Given the description of an element on the screen output the (x, y) to click on. 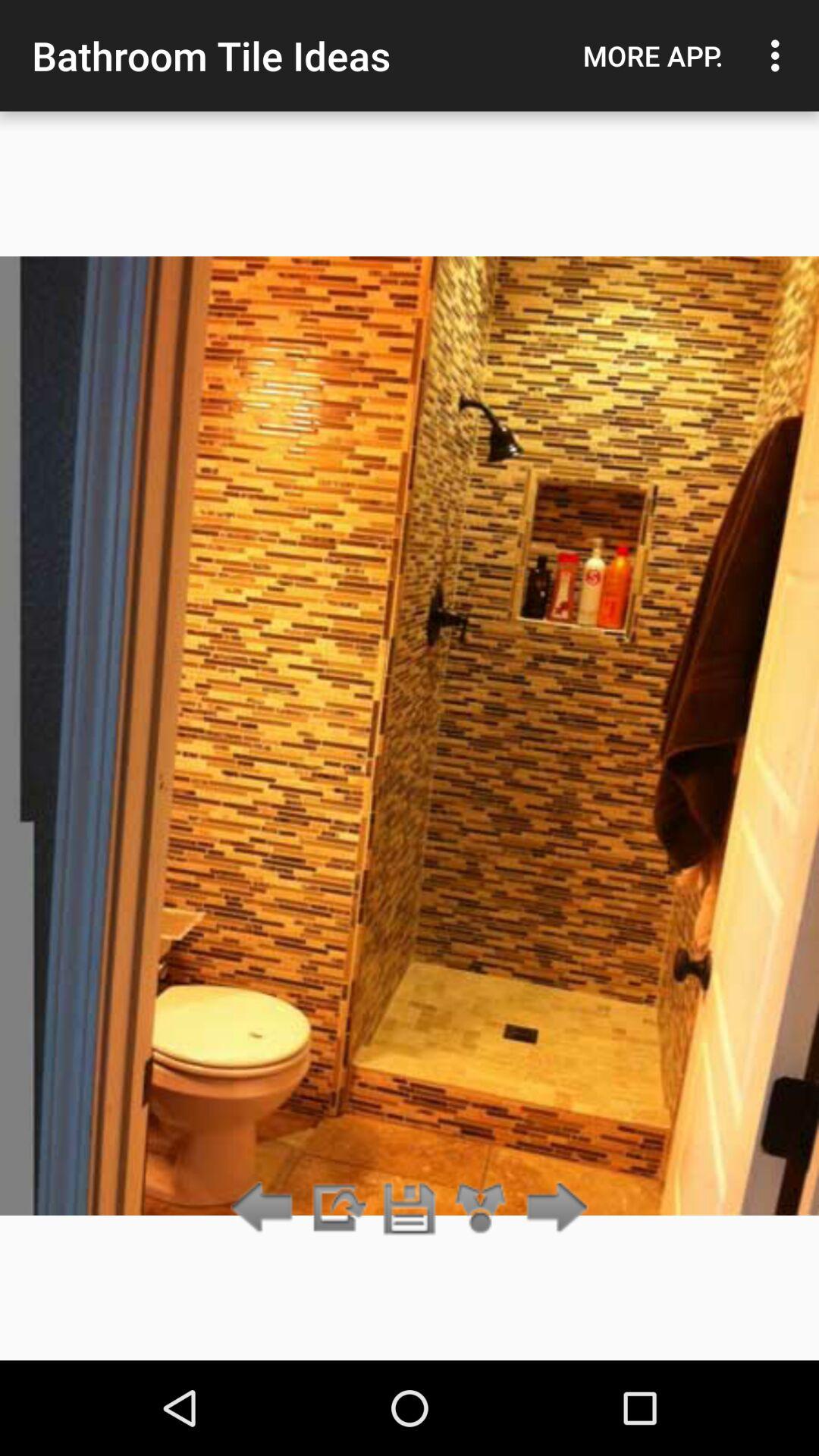
choose item below bathroom tile ideas (409, 1208)
